Given the description of an element on the screen output the (x, y) to click on. 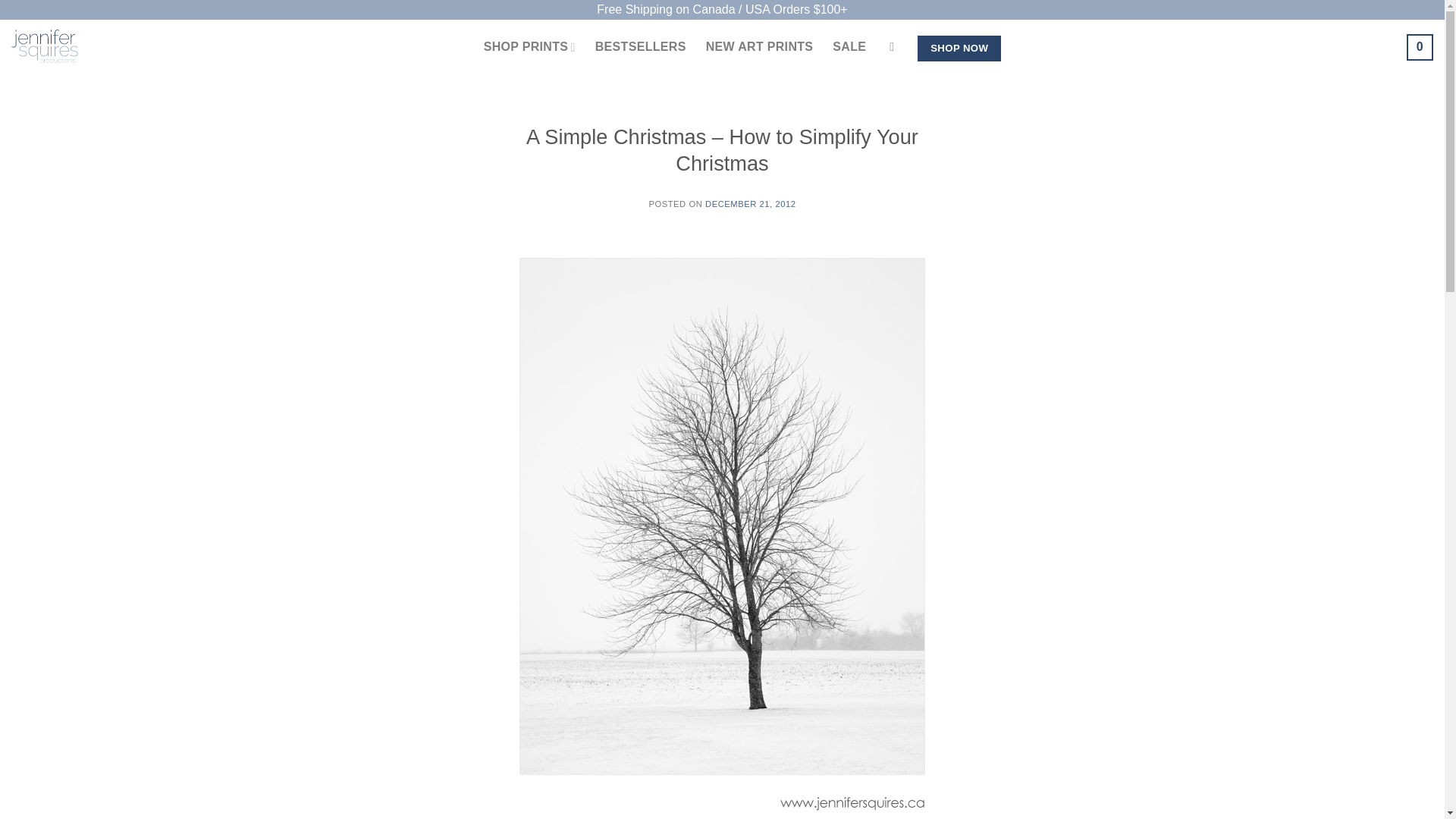
SHOP PRINTS (529, 47)
SHOP NOW (959, 48)
BESTSELLERS (640, 46)
NEW ART PRINTS (759, 46)
SALE (849, 46)
